Given the description of an element on the screen output the (x, y) to click on. 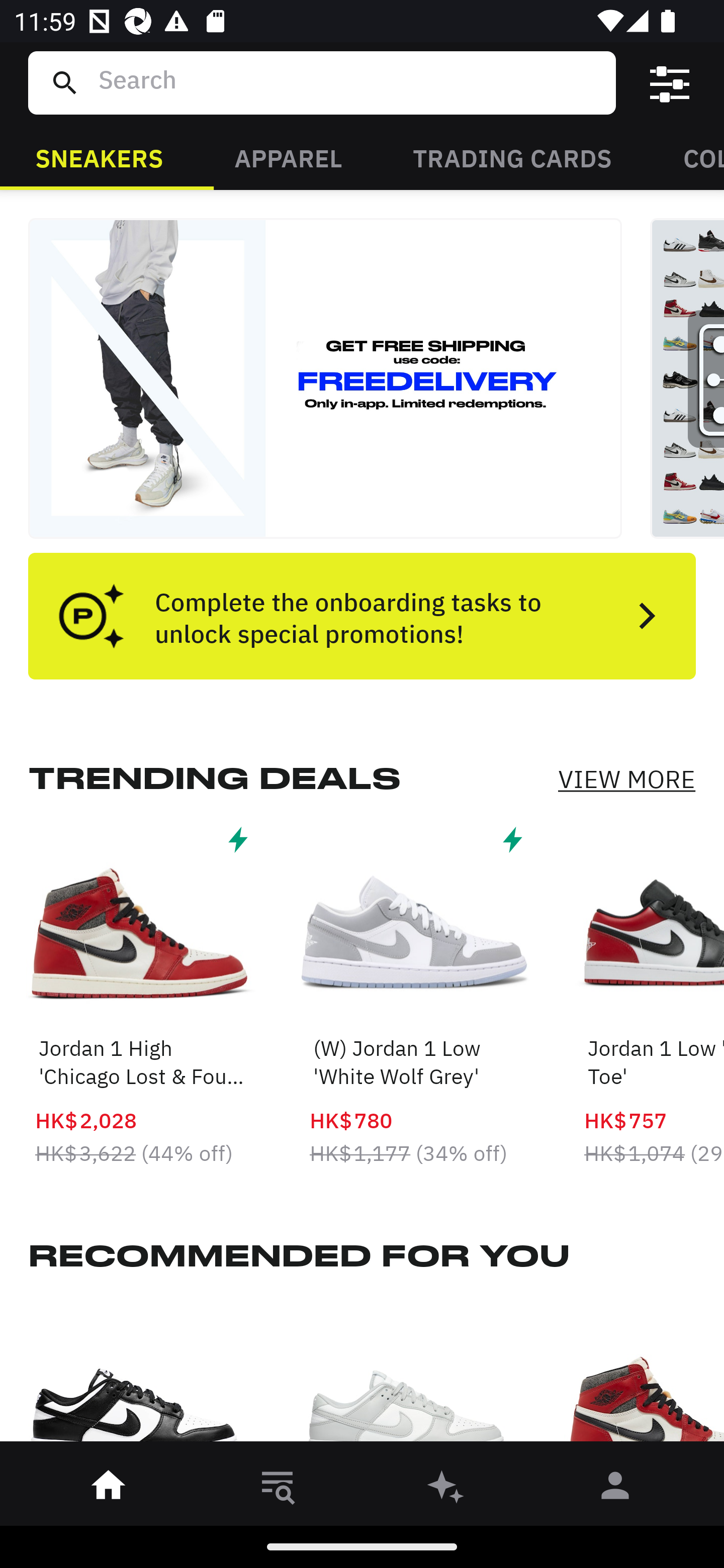
Search (349, 82)
 (669, 82)
SNEAKERS (99, 156)
APPAREL (287, 156)
TRADING CARDS (512, 156)
VIEW MORE (626, 779)
󰋜 (108, 1488)
󱎸 (277, 1488)
󰫢 (446, 1488)
󰀄 (615, 1488)
